Given the description of an element on the screen output the (x, y) to click on. 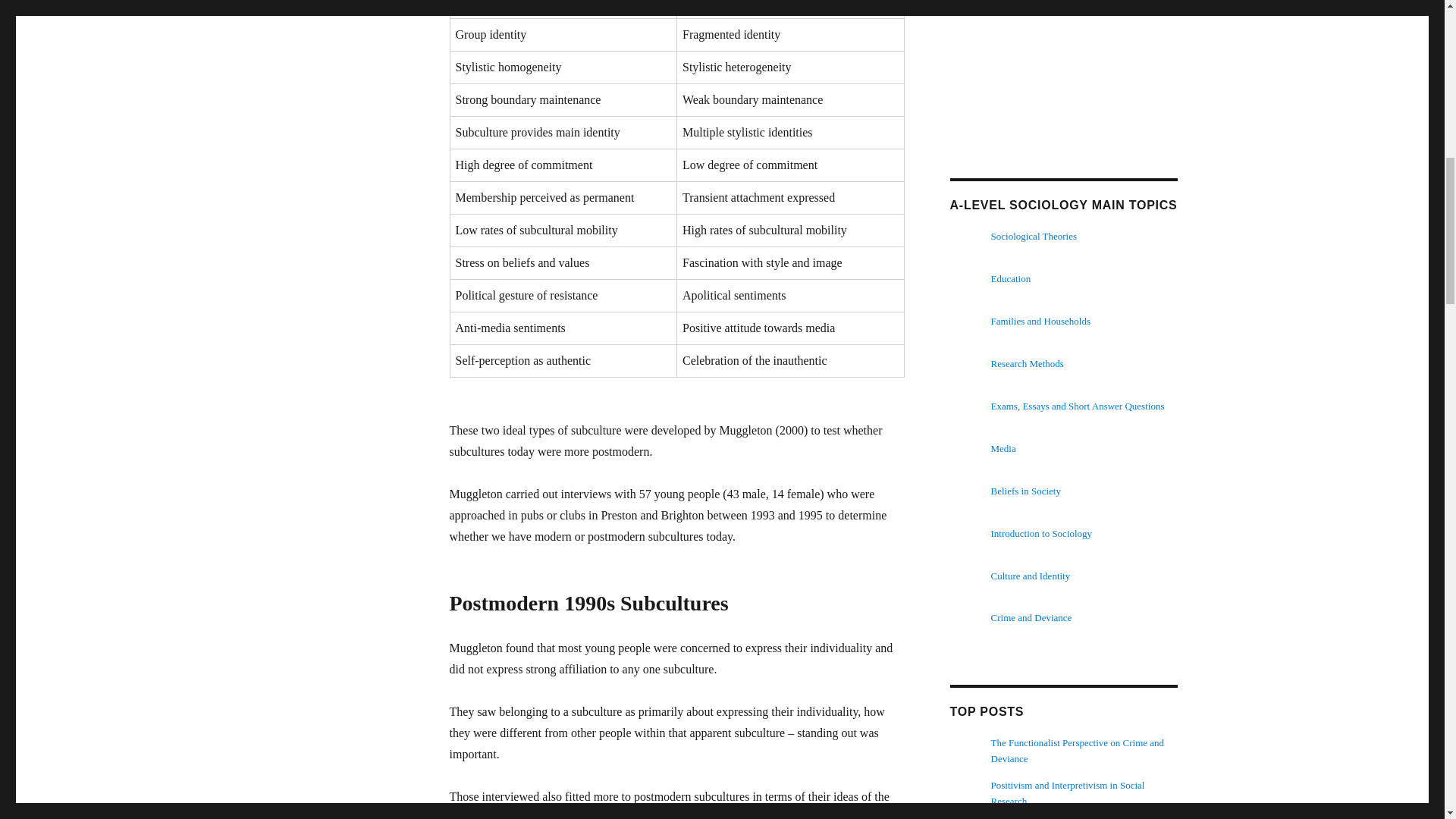
Research Methods (1027, 363)
Education (1010, 278)
Families and Households (1040, 320)
Sociological Theories (1034, 235)
Exams, Essays and Short Answer Questions (1077, 405)
Beliefs in Society (1026, 490)
Media (1003, 448)
